Given the description of an element on the screen output the (x, y) to click on. 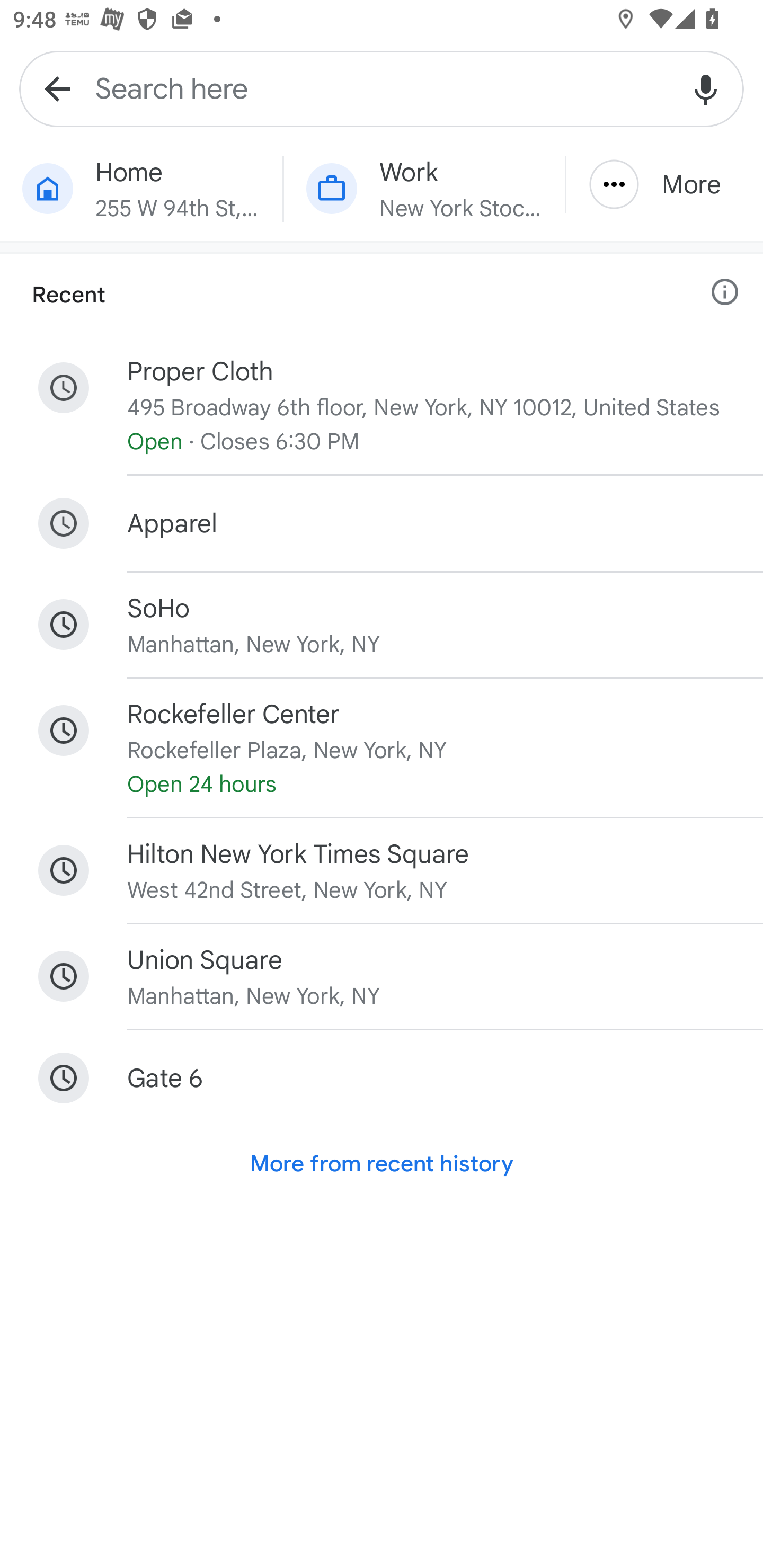
Navigate up (57, 88)
Search here (381, 88)
Voice search (705, 88)
More (664, 184)
Apparel (381, 522)
SoHo Manhattan, New York, NY (381, 624)
Union Square Manhattan, New York, NY (381, 976)
Gate 6 (381, 1077)
More from recent history (381, 1163)
